Given the description of an element on the screen output the (x, y) to click on. 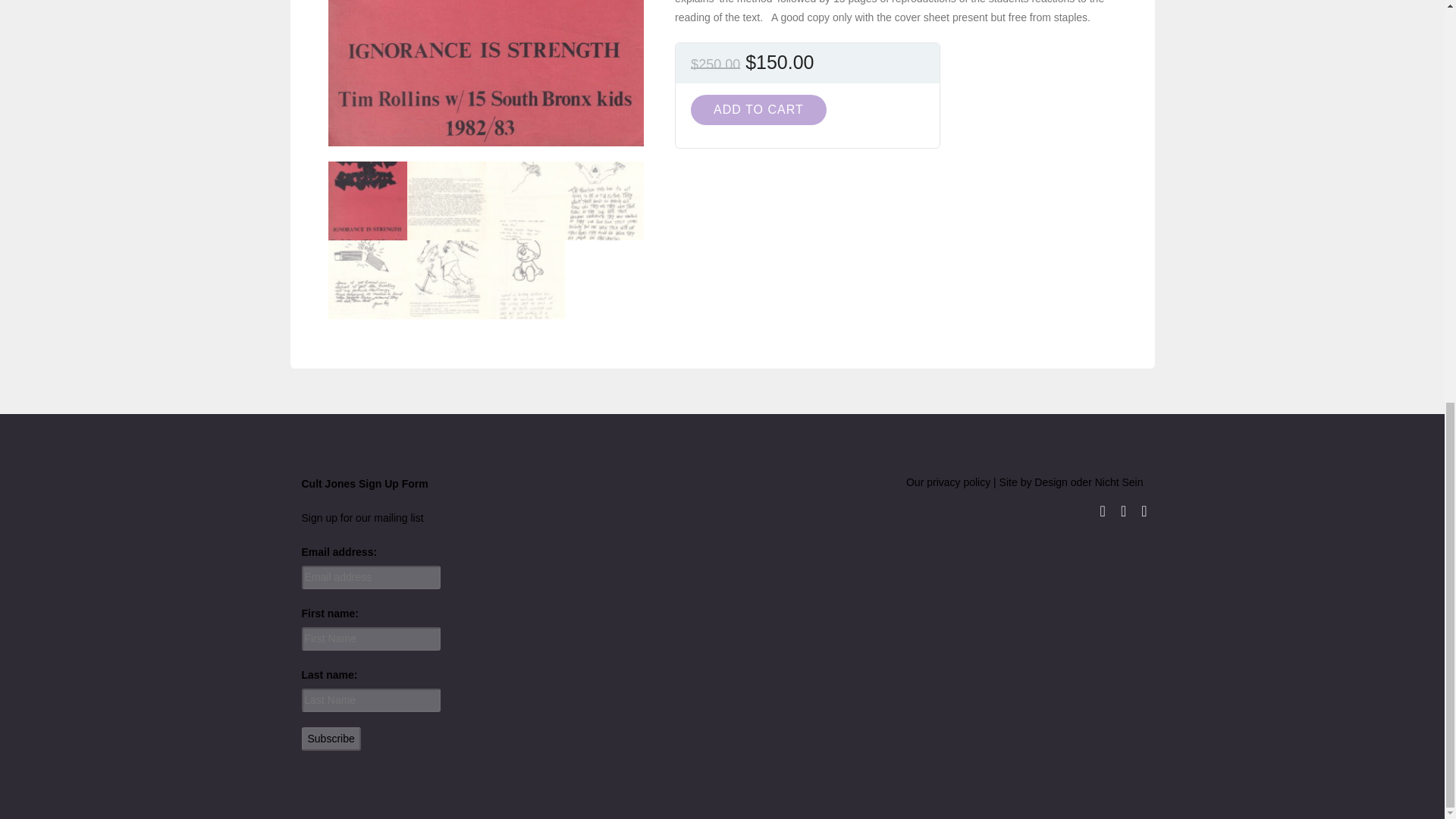
Subscribe (331, 739)
Subscribe (331, 739)
ADD TO CART (758, 110)
